Given the description of an element on the screen output the (x, y) to click on. 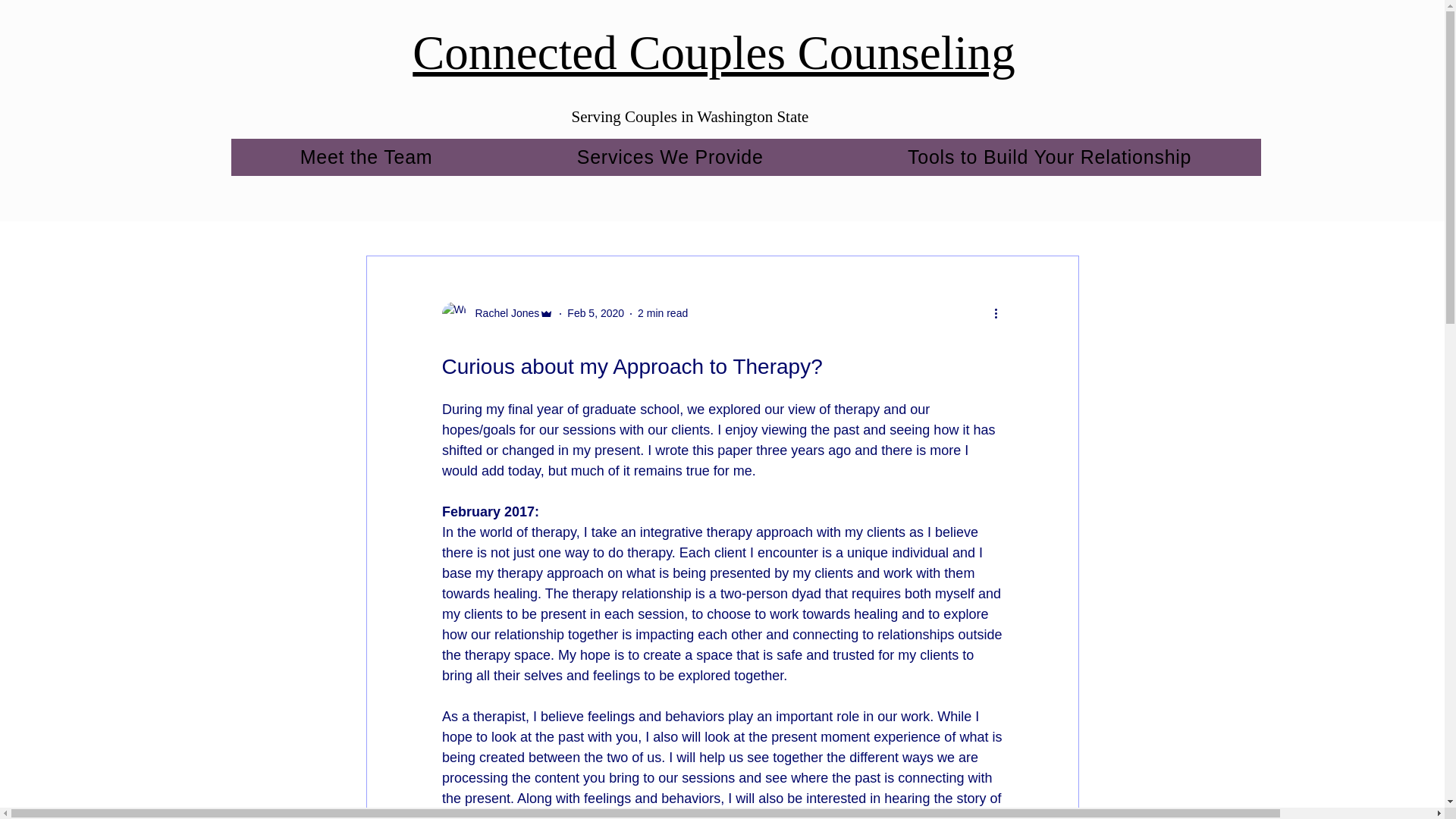
Rachel Jones (497, 313)
All posts (385, 210)
Feb 5, 2020 (595, 313)
Rachel Jones (501, 313)
Meet the Team (365, 157)
Services We Provide (670, 157)
Tools to Build Your Relationship (1049, 157)
Connected Couples Counseling (713, 45)
2 min read (662, 313)
